Given the description of an element on the screen output the (x, y) to click on. 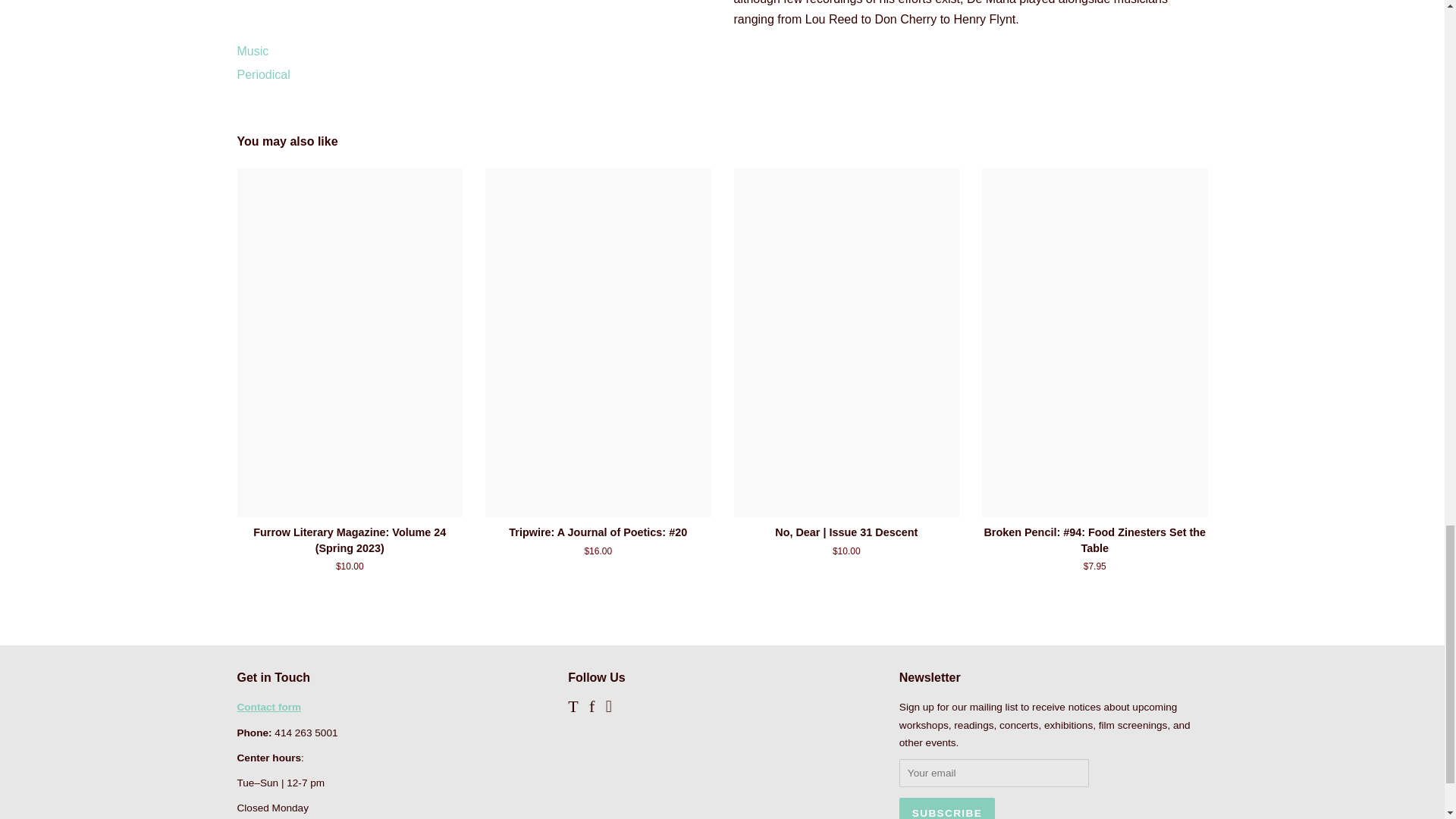
Subscribe (946, 808)
Contact form (268, 706)
Music (251, 51)
Periodical (262, 74)
Subscribe (946, 808)
